Given the description of an element on the screen output the (x, y) to click on. 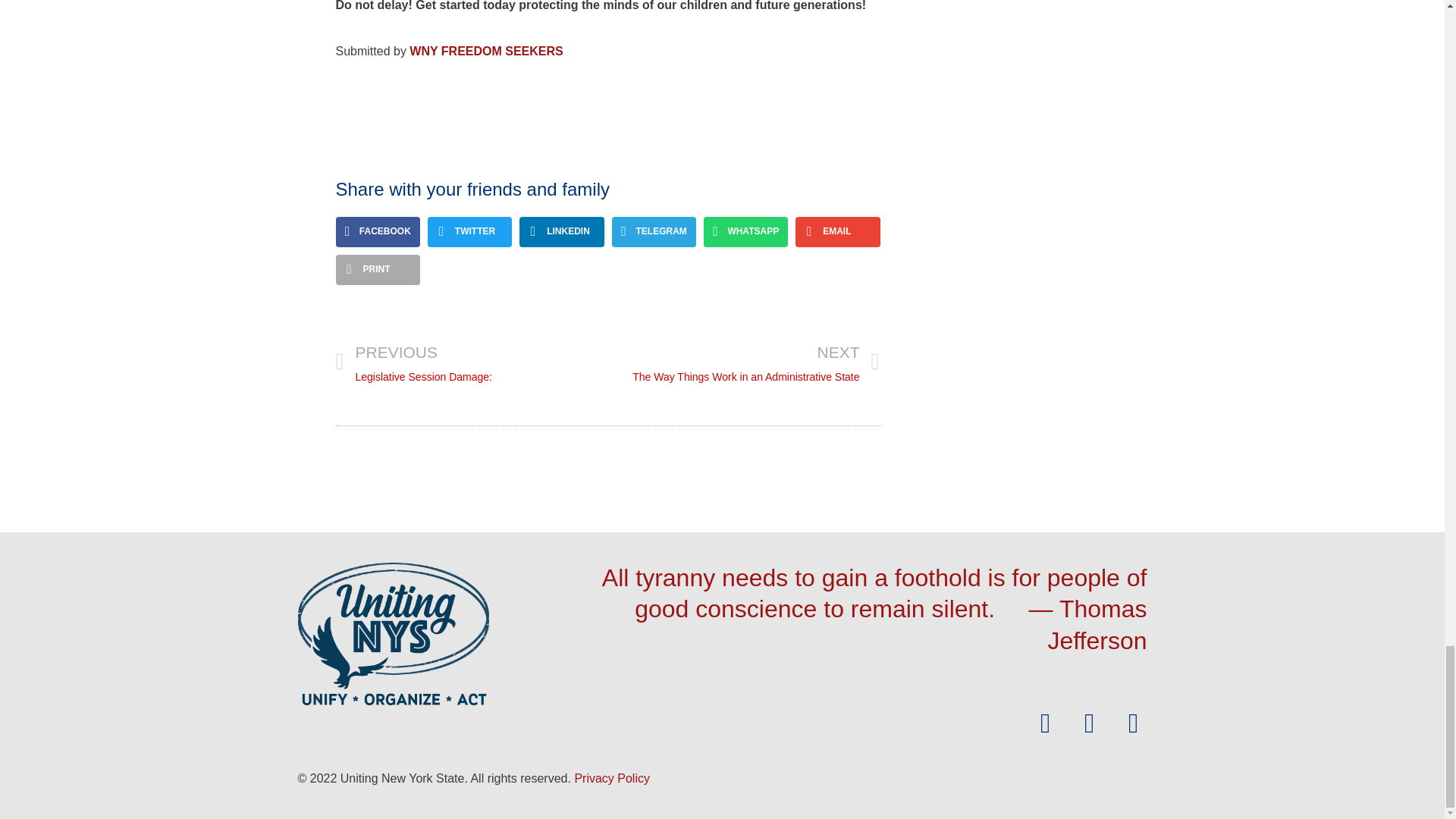
WNY FREEDOM SEEKERS (470, 362)
